Given the description of an element on the screen output the (x, y) to click on. 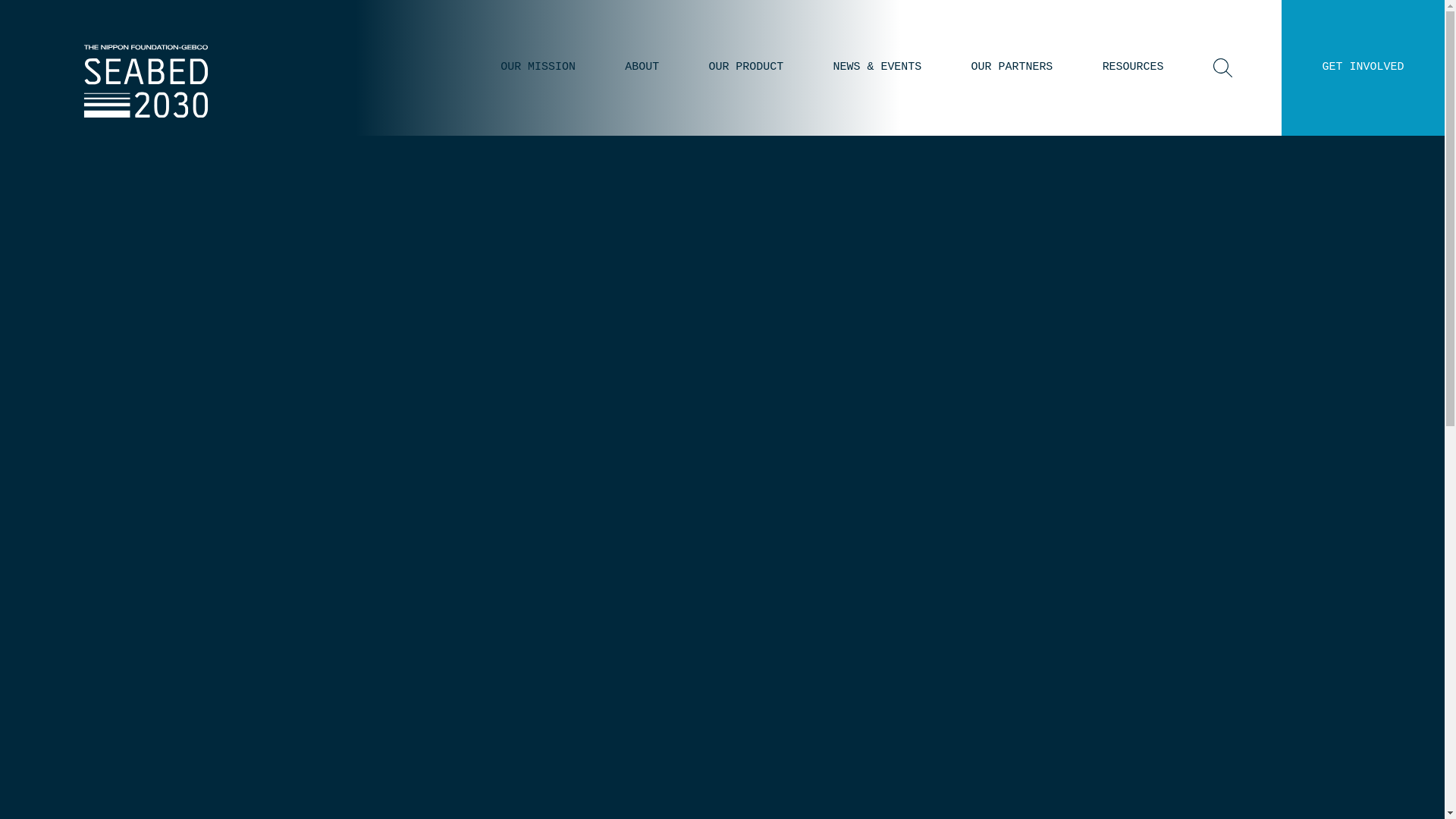
RESOURCES (1132, 67)
OUR PRODUCT (745, 67)
GET INVOLVED (1363, 67)
ABOUT (641, 67)
OUR PARTNERS (1011, 67)
OUR MISSION (537, 67)
